Given the description of an element on the screen output the (x, y) to click on. 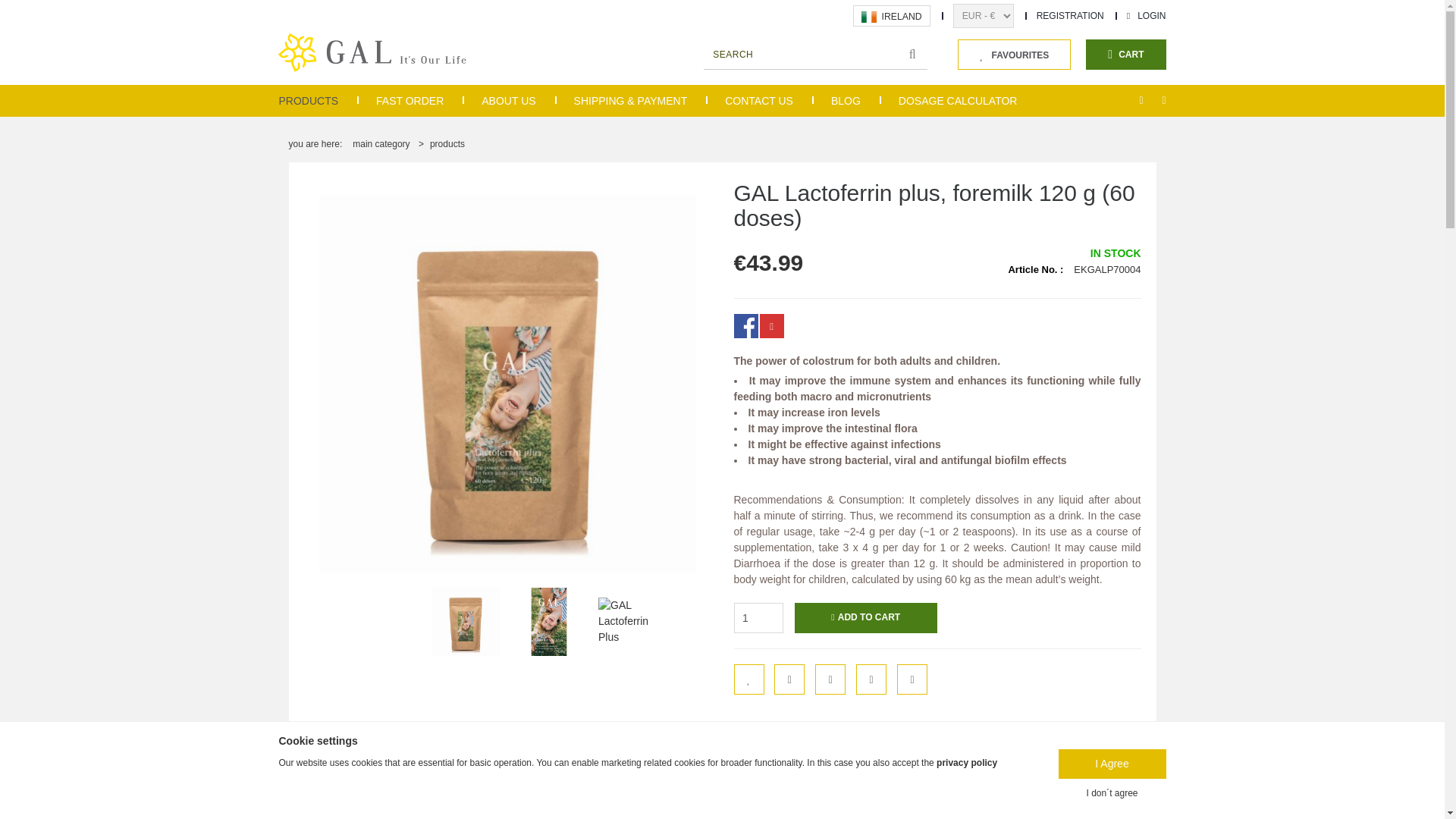
Pinterest (772, 325)
Favourites (1014, 54)
LOGIN (1146, 15)
GAL Lactoferrin Plus (464, 621)
Ireland (868, 16)
GAL Lactoferrin Plus (548, 621)
CART (1126, 54)
I Agree (1112, 763)
1 (758, 617)
